Given the description of an element on the screen output the (x, y) to click on. 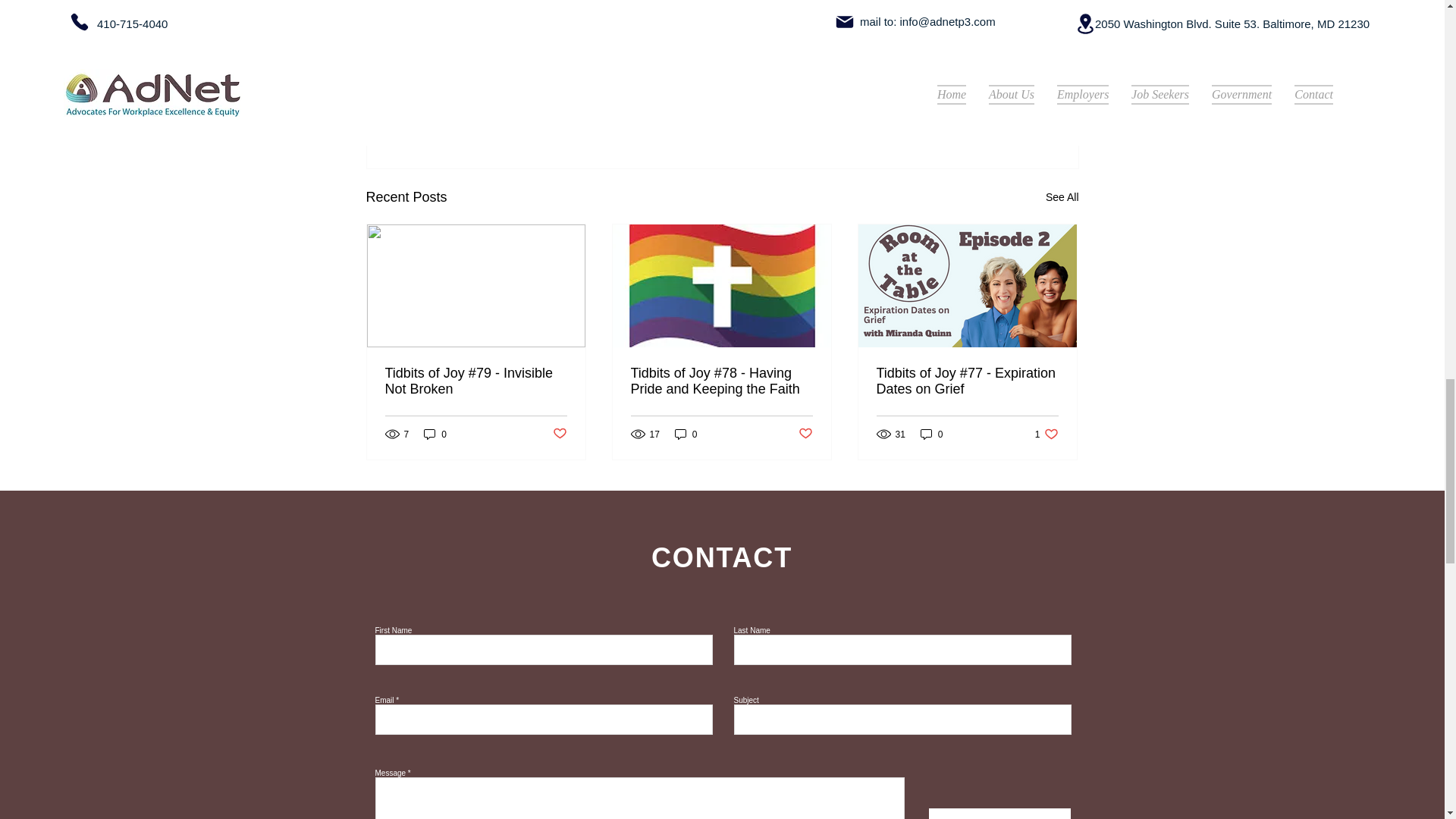
0 (931, 433)
0 (685, 433)
Post not marked as liked (804, 433)
Post not marked as liked (995, 114)
0 (435, 433)
See All (1061, 197)
Post not marked as liked (1046, 433)
